Given the description of an element on the screen output the (x, y) to click on. 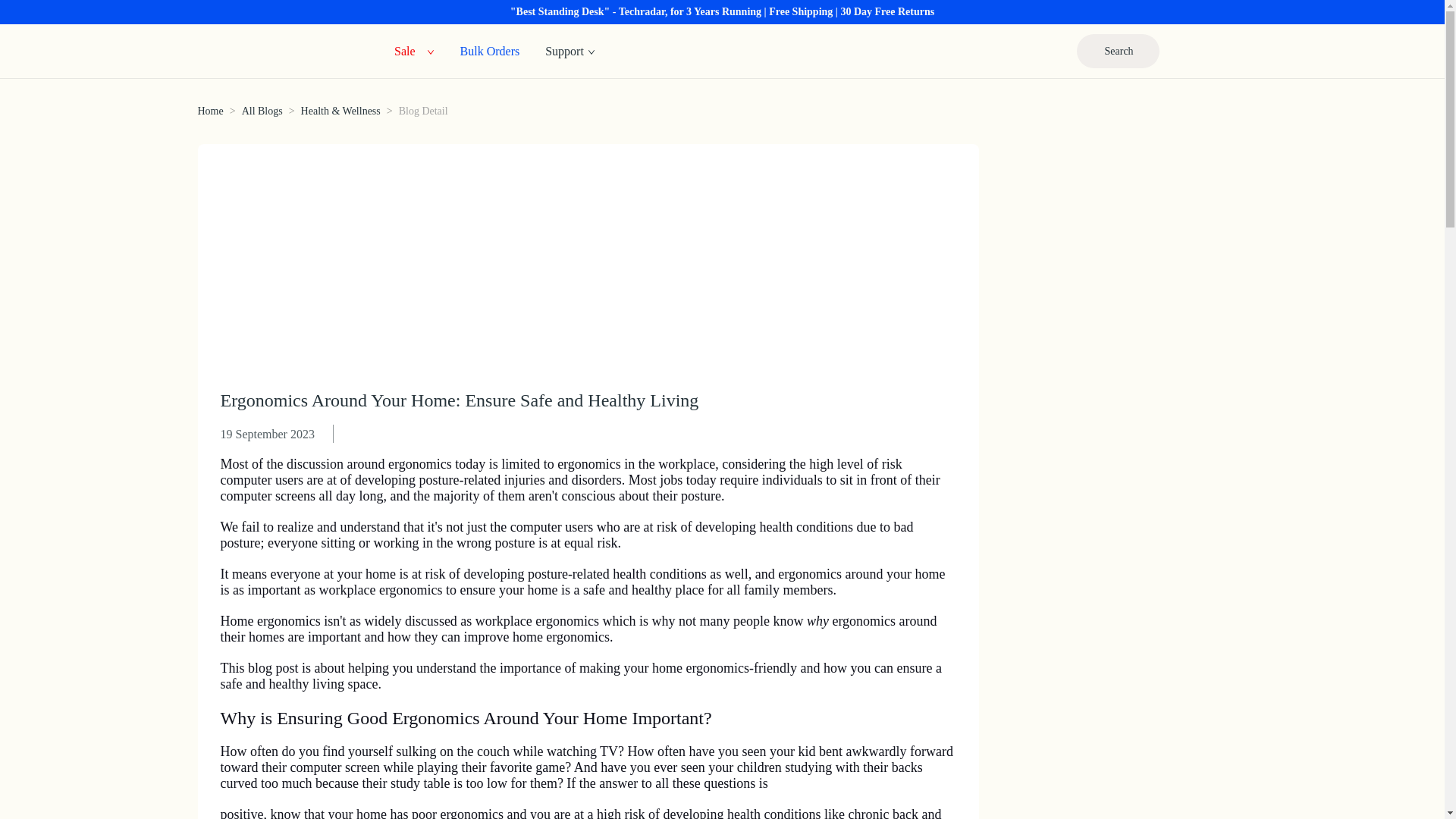
All Blogs (261, 111)
Bulk Orders (489, 50)
Home (209, 111)
Sale (405, 50)
